Given the description of an element on the screen output the (x, y) to click on. 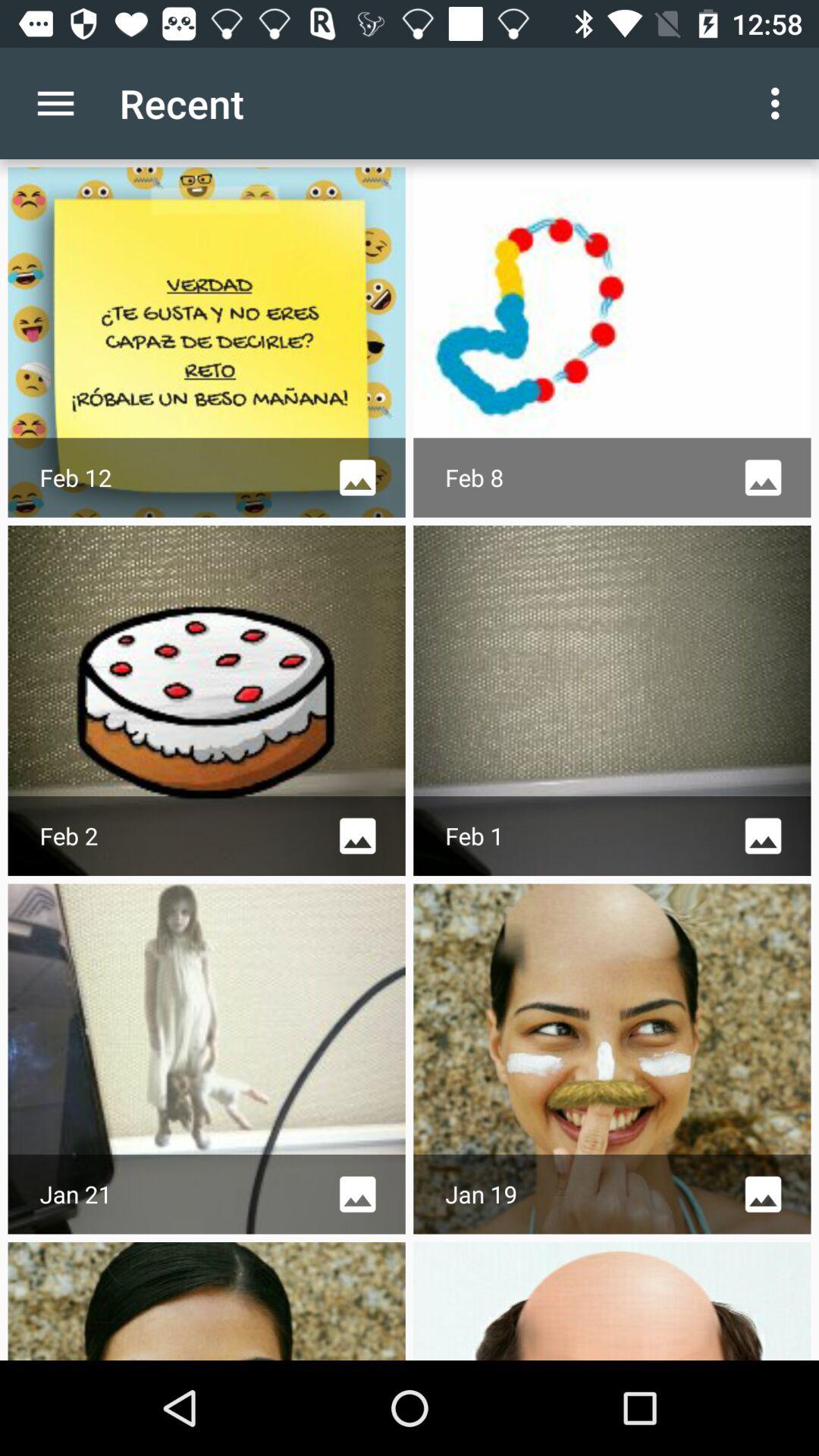
press icon next to the recent (779, 103)
